Given the description of an element on the screen output the (x, y) to click on. 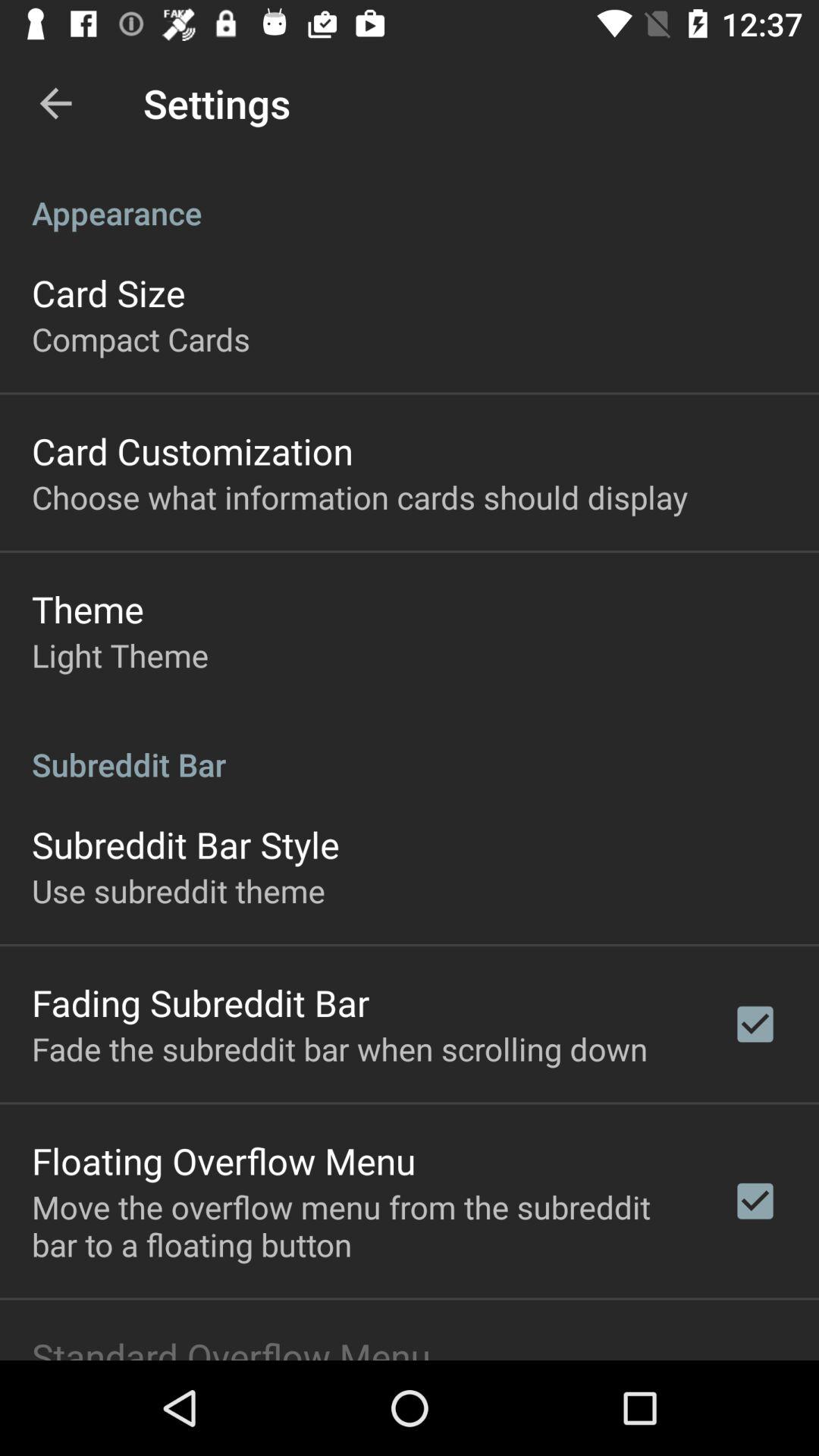
scroll until use subreddit theme app (178, 890)
